Given the description of an element on the screen output the (x, y) to click on. 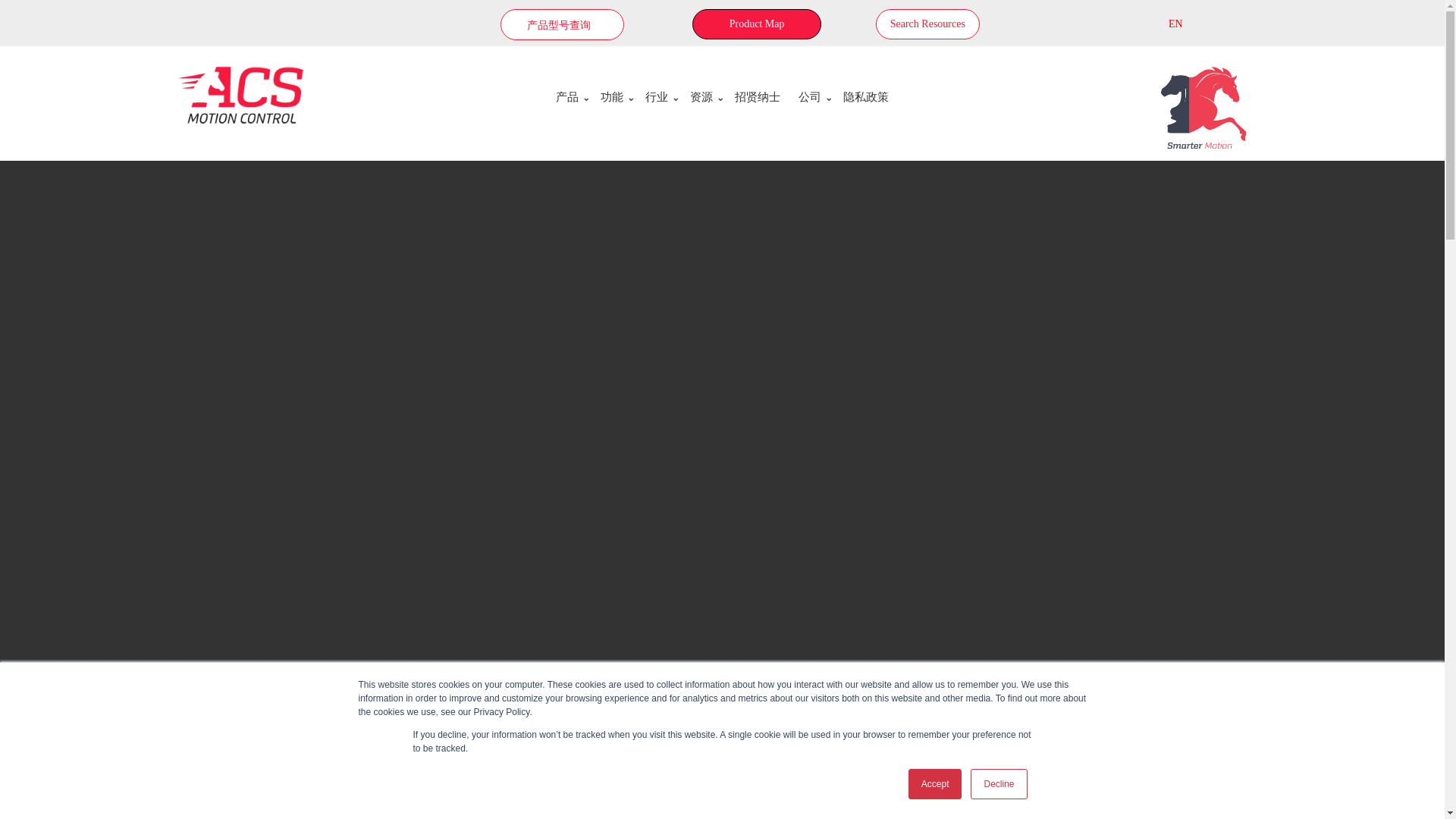
ACS-LOGO (239, 94)
Accept (935, 784)
Screenshot 2023-06-29 at 22.33.15 (1203, 109)
Decline (998, 784)
